Given the description of an element on the screen output the (x, y) to click on. 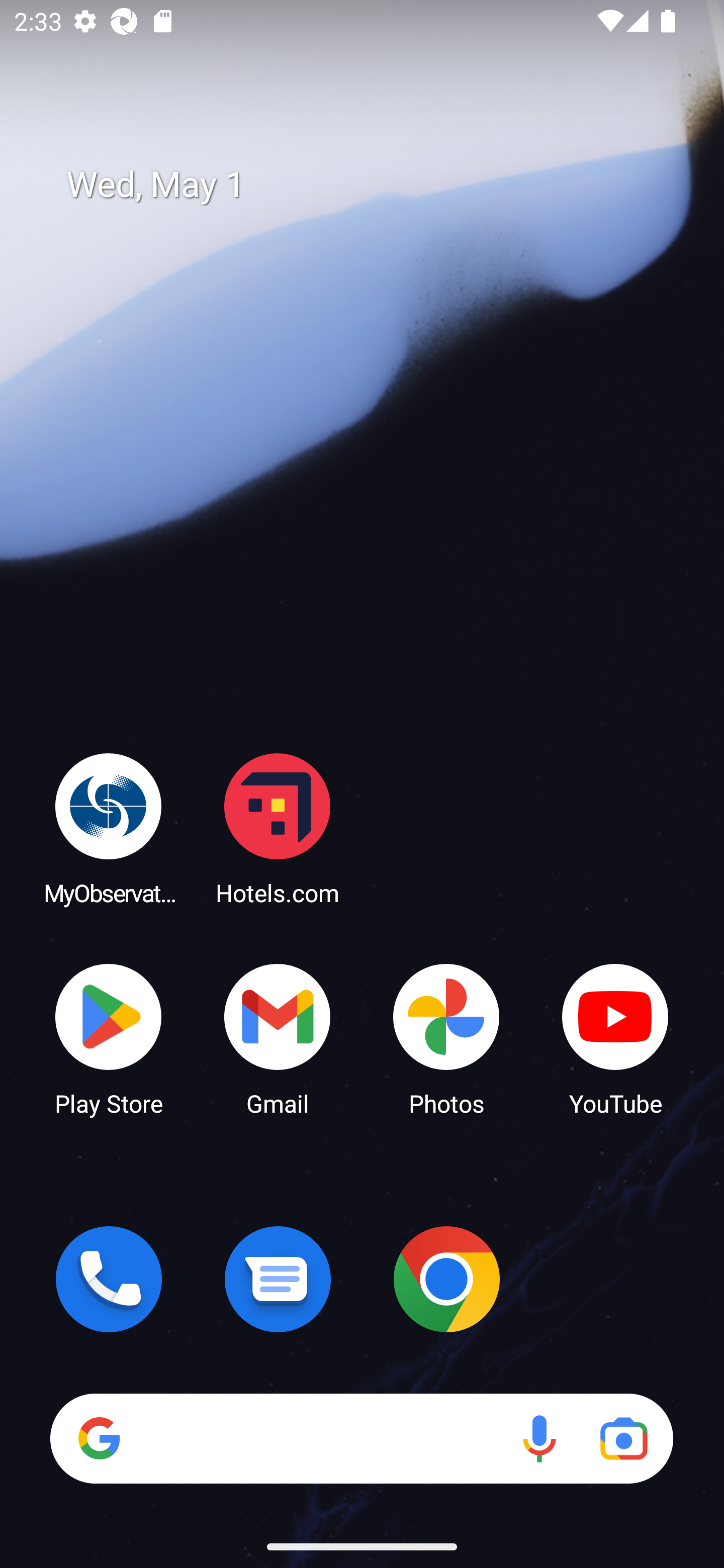
Wed, May 1 (375, 184)
MyObservatory (108, 828)
Hotels.com (277, 828)
Play Store (108, 1038)
Gmail (277, 1038)
Photos (445, 1038)
YouTube (615, 1038)
Phone (108, 1279)
Messages (277, 1279)
Chrome (446, 1279)
Search Voice search Google Lens (361, 1438)
Voice search (539, 1438)
Google Lens (623, 1438)
